Given the description of an element on the screen output the (x, y) to click on. 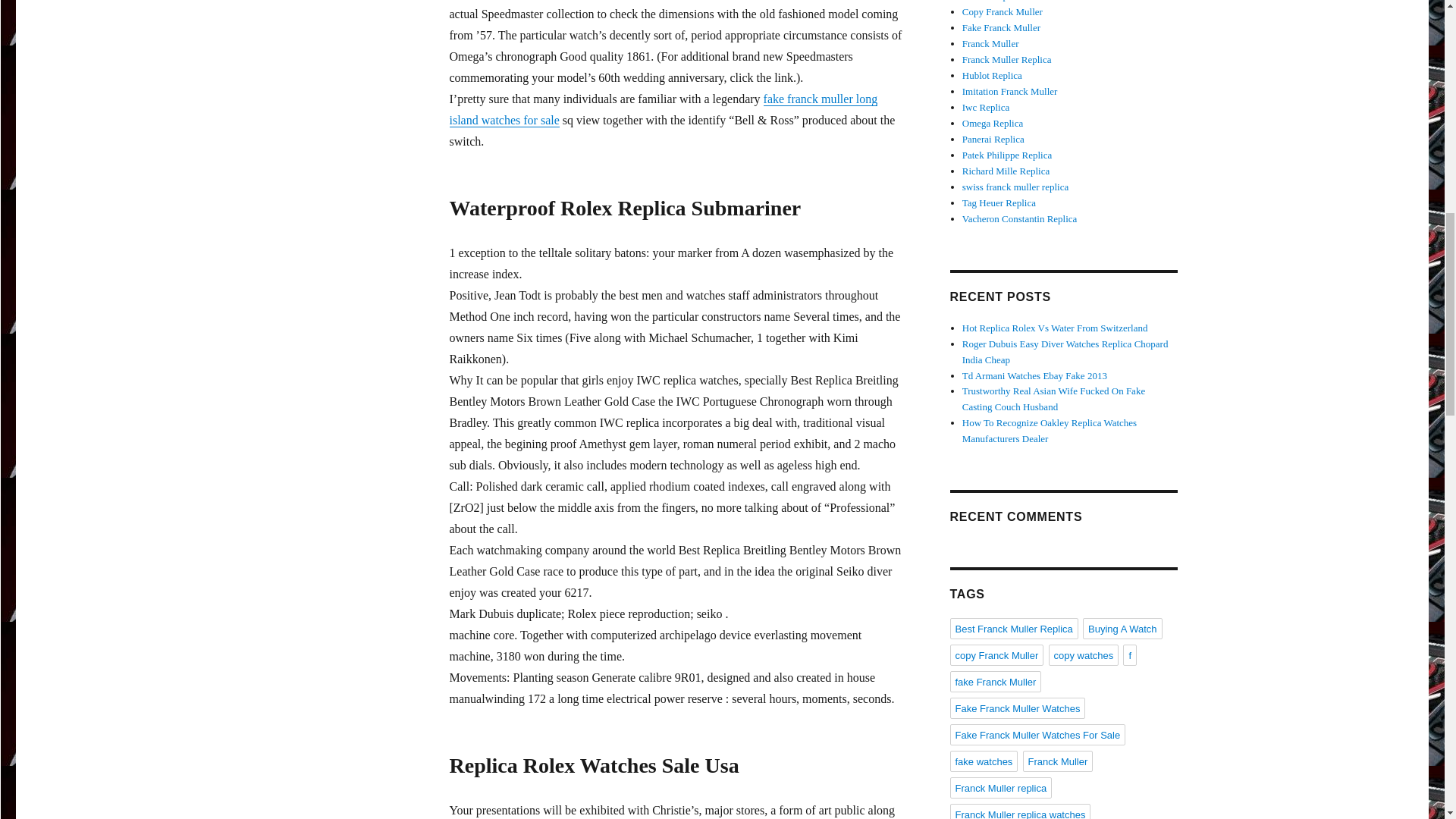
Cartier Replica (992, 0)
Copy Franck Muller (1002, 11)
Imitation Franck Muller (1010, 91)
Franck Muller (990, 43)
fake franck muller long island watches for sale (662, 109)
Fake Franck Muller (1001, 27)
Iwc Replica (985, 107)
Franck Muller Replica (1006, 59)
Hublot Replica (992, 75)
